Given the description of an element on the screen output the (x, y) to click on. 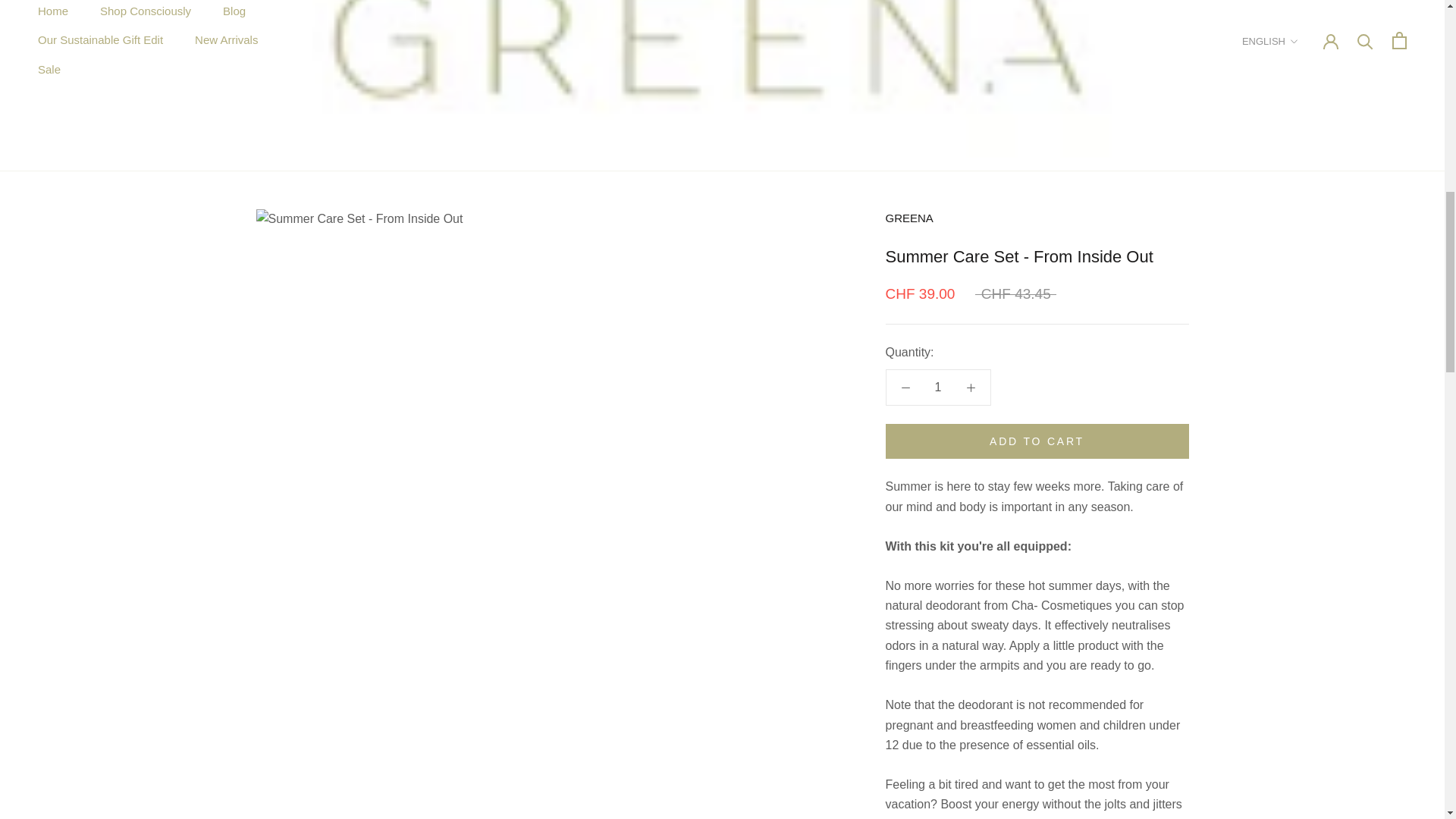
1 (938, 386)
Shop Consciously (52, 10)
